Given the description of an element on the screen output the (x, y) to click on. 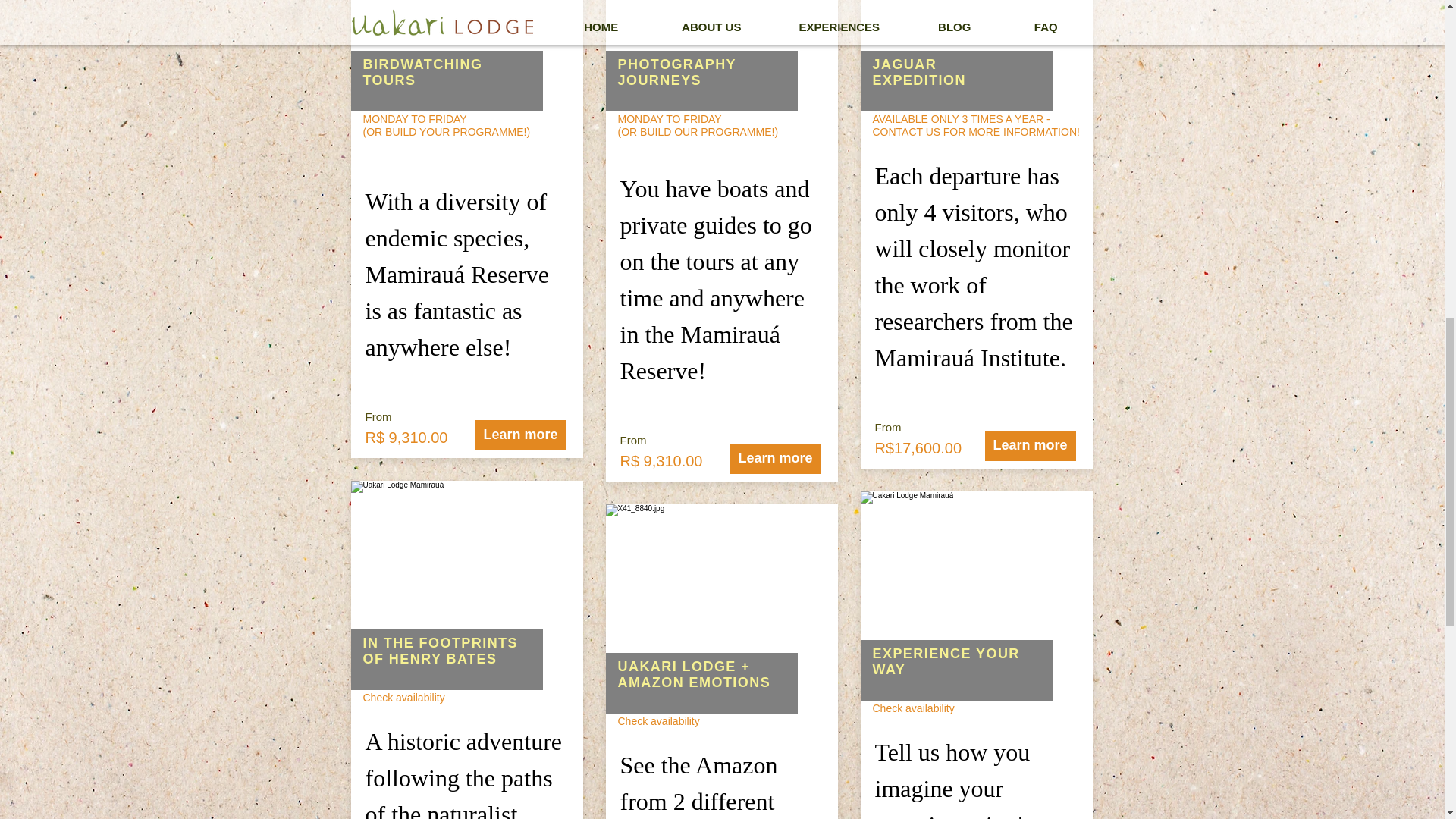
Learn more (775, 458)
Learn more (520, 435)
Learn more (1029, 445)
